Given the description of an element on the screen output the (x, y) to click on. 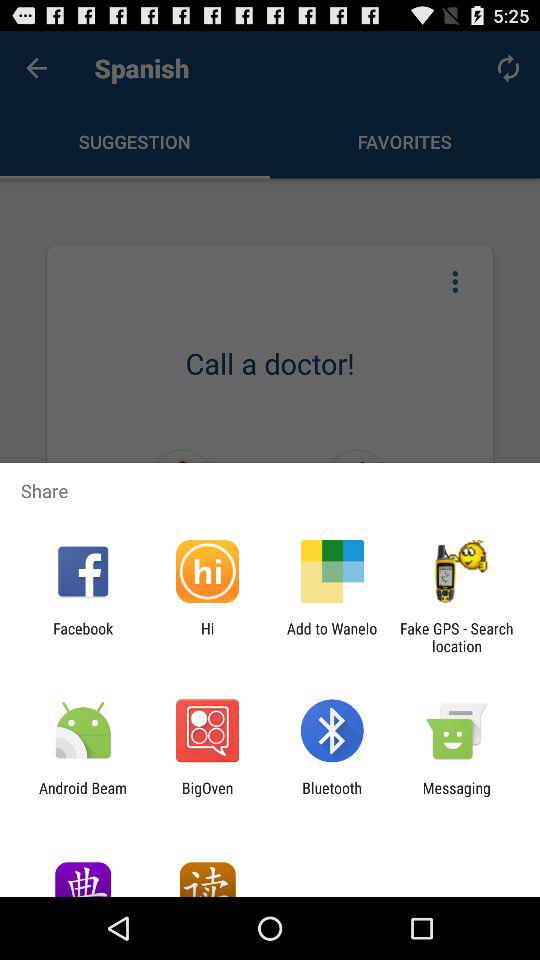
jump until the bigoven app (207, 796)
